Given the description of an element on the screen output the (x, y) to click on. 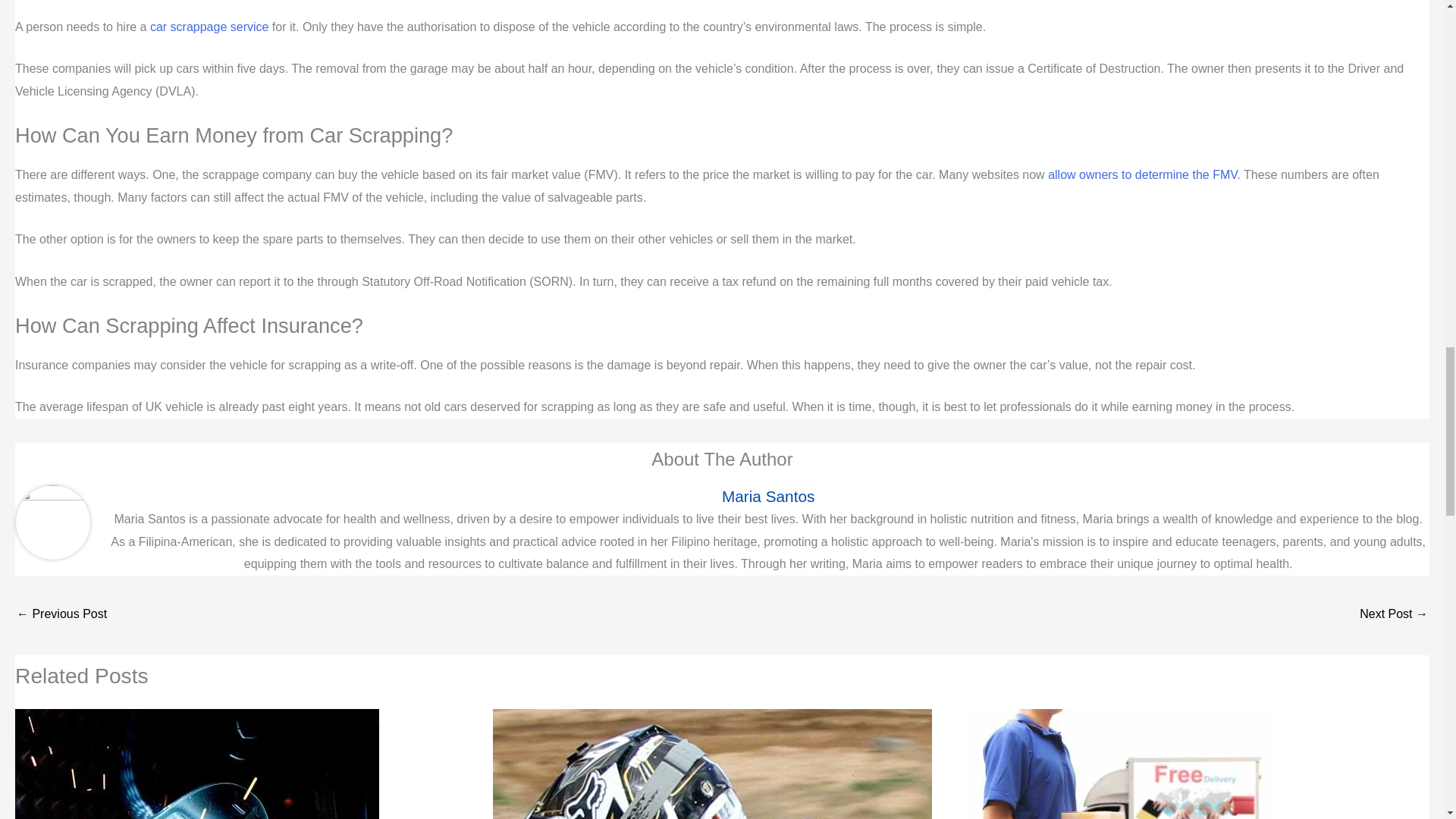
How Older Women Become at Risk of Eating Disorders (1393, 615)
Maria Santos (767, 495)
LKM Recycling (209, 26)
allow owners to determine the FMV (1142, 174)
The Telegraph (1142, 174)
car scrappage service (209, 26)
